Given the description of an element on the screen output the (x, y) to click on. 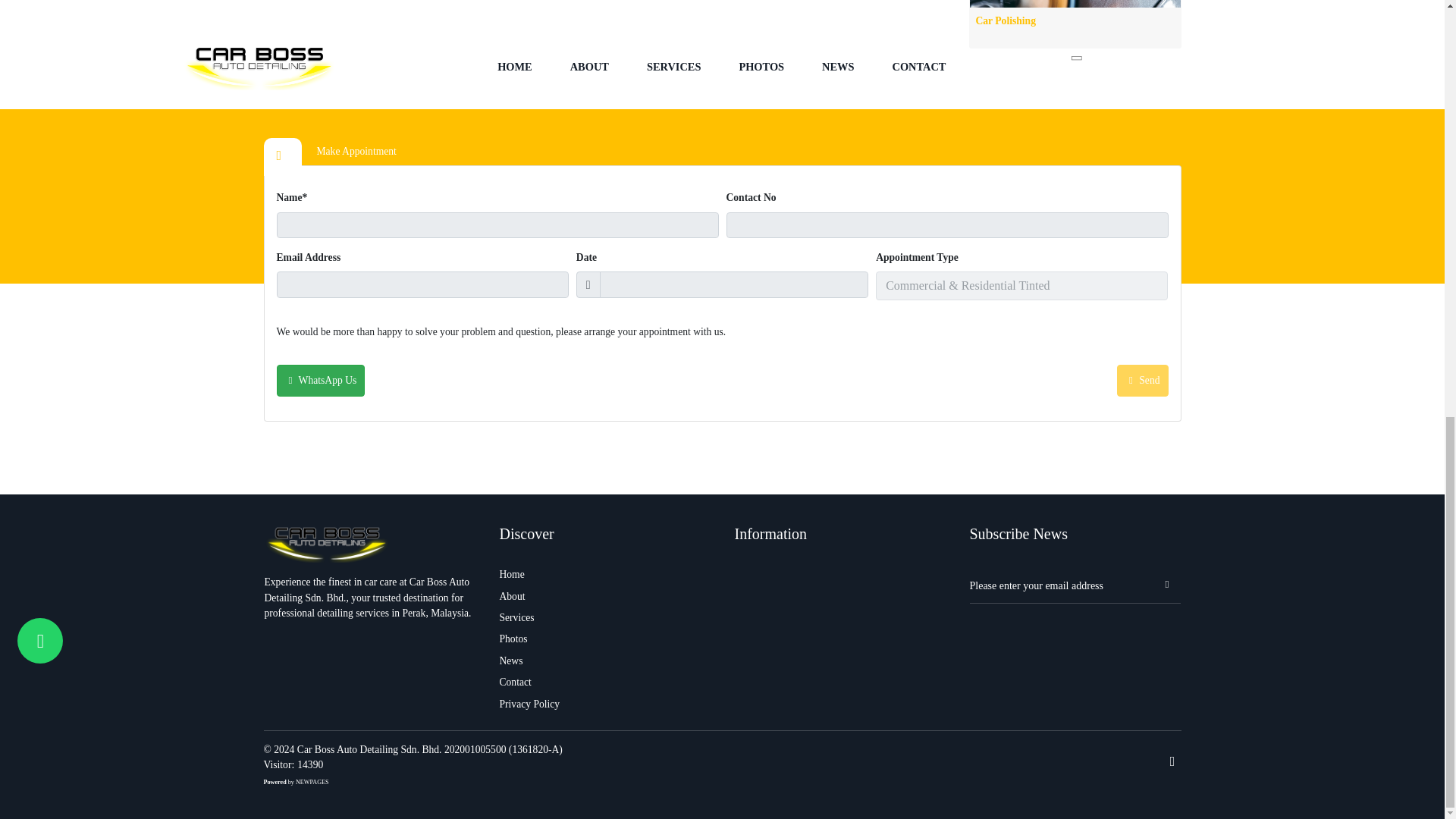
Car Polishing (1074, 23)
